Given the description of an element on the screen output the (x, y) to click on. 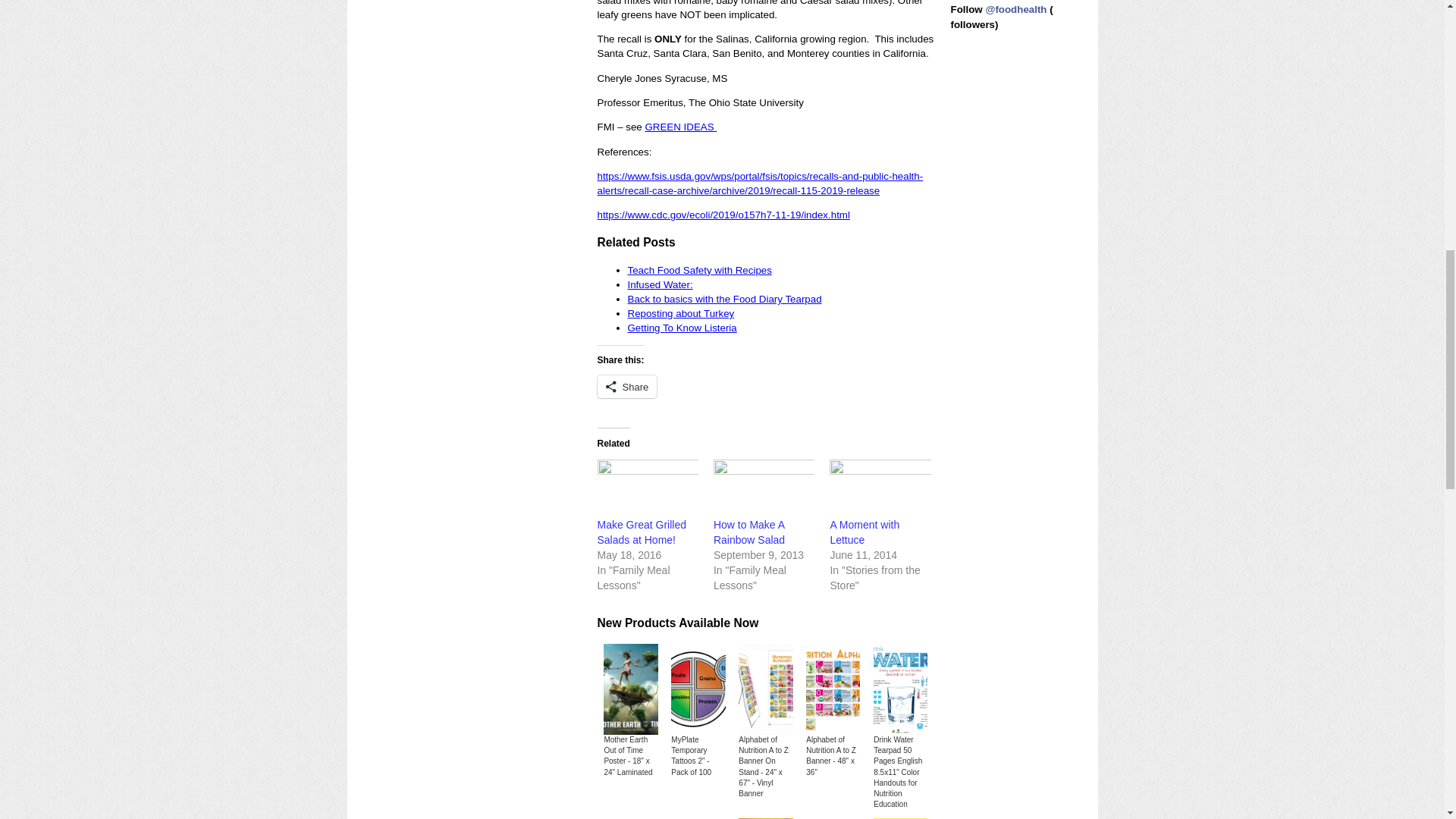
Back to basics with the Food Diary Tearpad (724, 298)
Getting To Know Listeria (681, 327)
Reposting about Turkey (681, 313)
Teach Food Safety with Recipes (699, 270)
Infused Water: (660, 284)
How to Make A Rainbow Salad (763, 487)
Make Great Grilled Salads at Home! (647, 487)
Make Great Grilled Salads at Home! (640, 532)
